Given the description of an element on the screen output the (x, y) to click on. 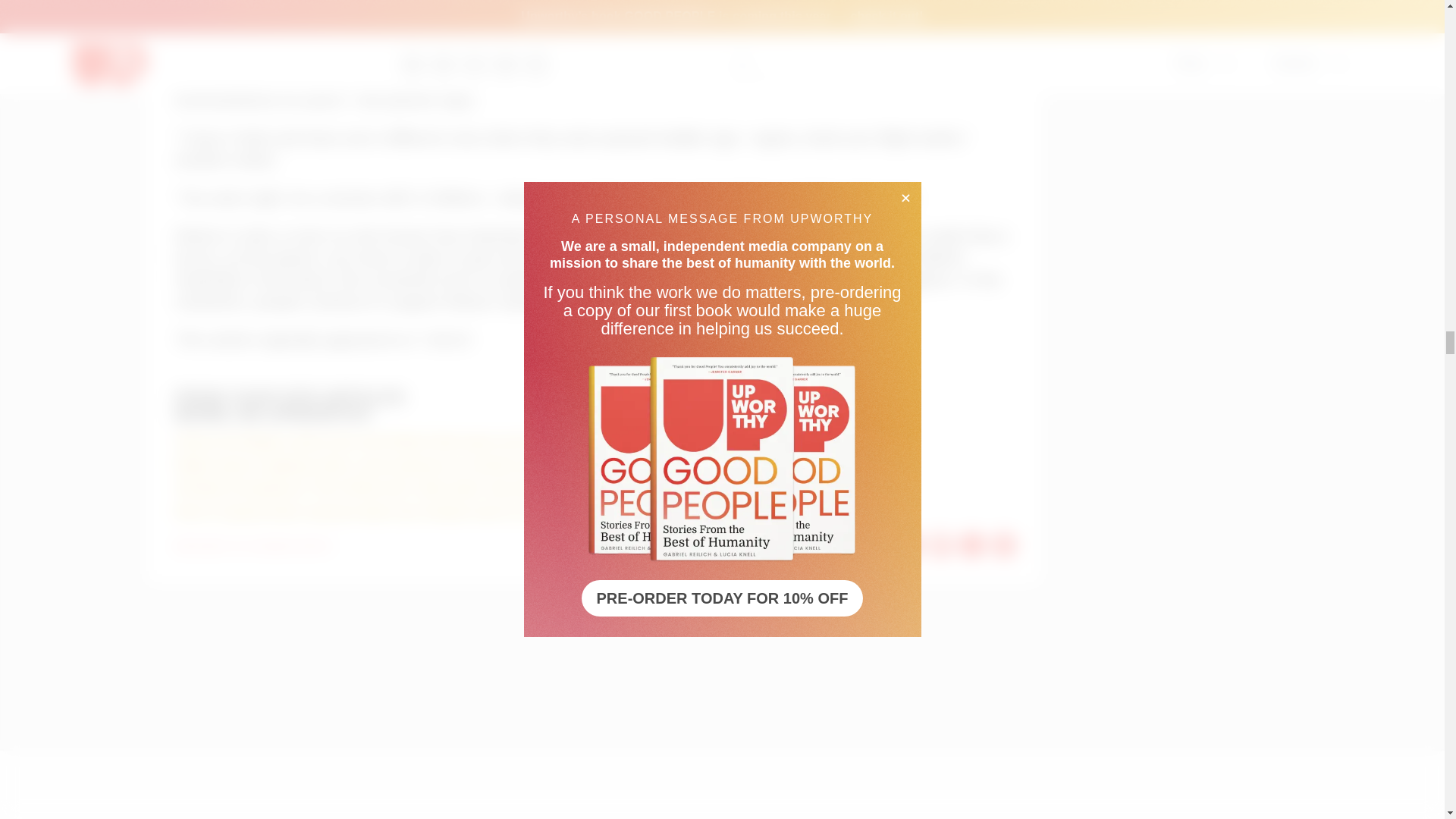
Copy this link to clipboard (1003, 545)
